Given the description of an element on the screen output the (x, y) to click on. 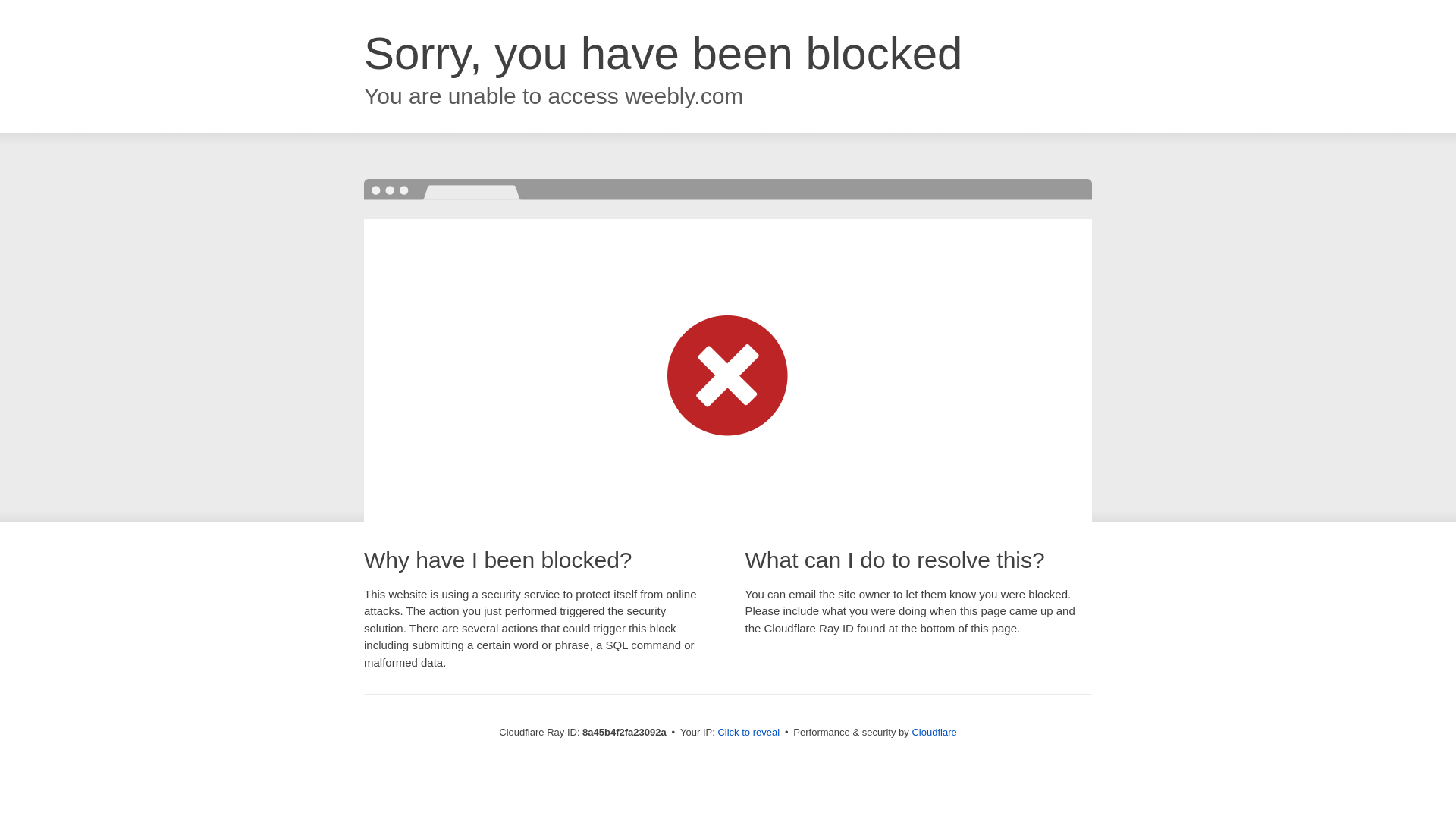
Cloudflare (933, 731)
Click to reveal (747, 732)
